Given the description of an element on the screen output the (x, y) to click on. 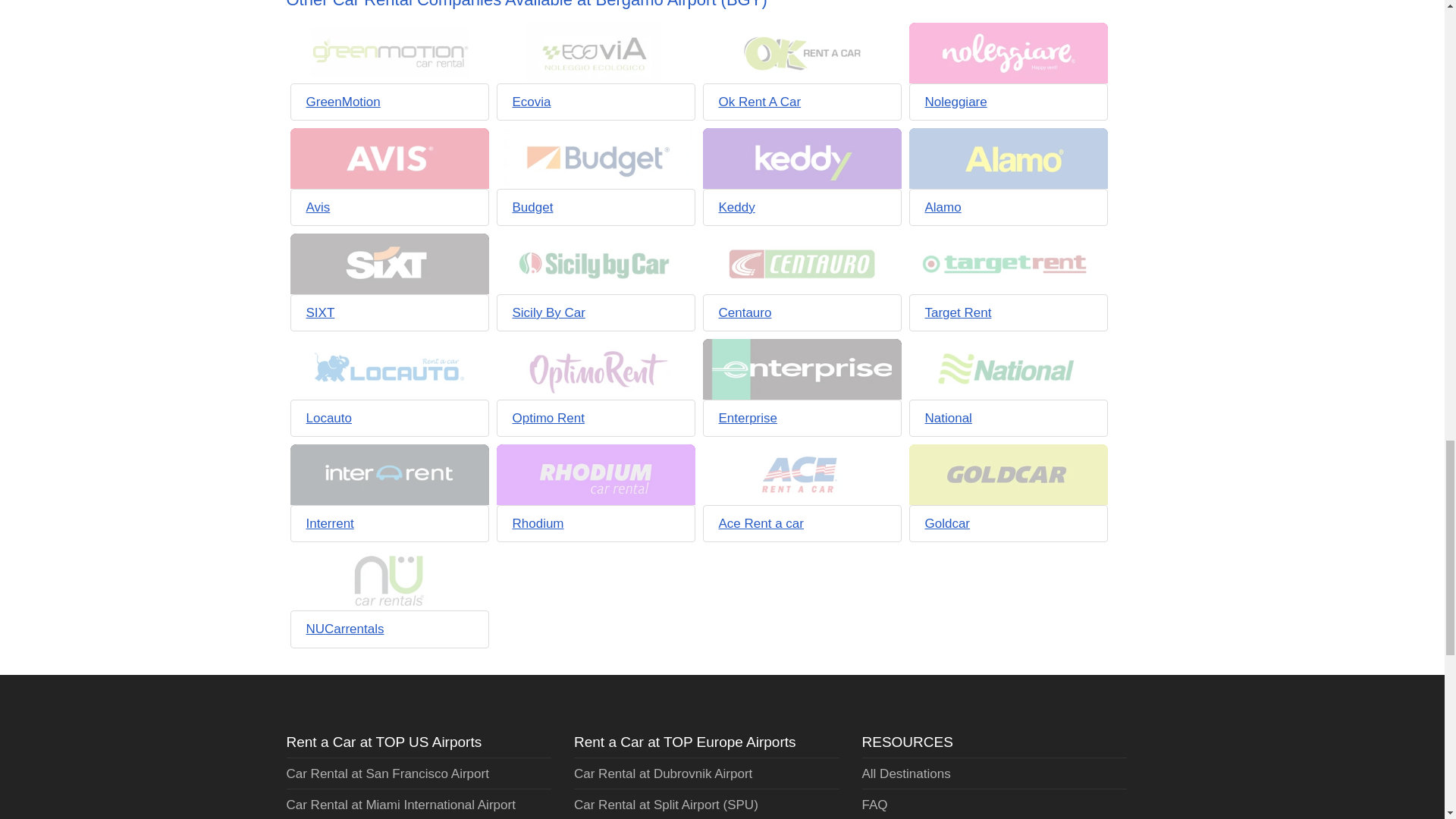
Sicily By Car (548, 312)
SIXT (319, 312)
Ace Rent a car (761, 523)
Ok Rent A Car (760, 101)
National (948, 418)
Noleggiare (955, 101)
Keddy (737, 206)
Target Rent (957, 312)
Enterprise (748, 418)
Budget (532, 206)
Locauto (328, 418)
Interrent (329, 523)
Avis (317, 206)
Ecovia (531, 101)
Alamo (942, 206)
